Given the description of an element on the screen output the (x, y) to click on. 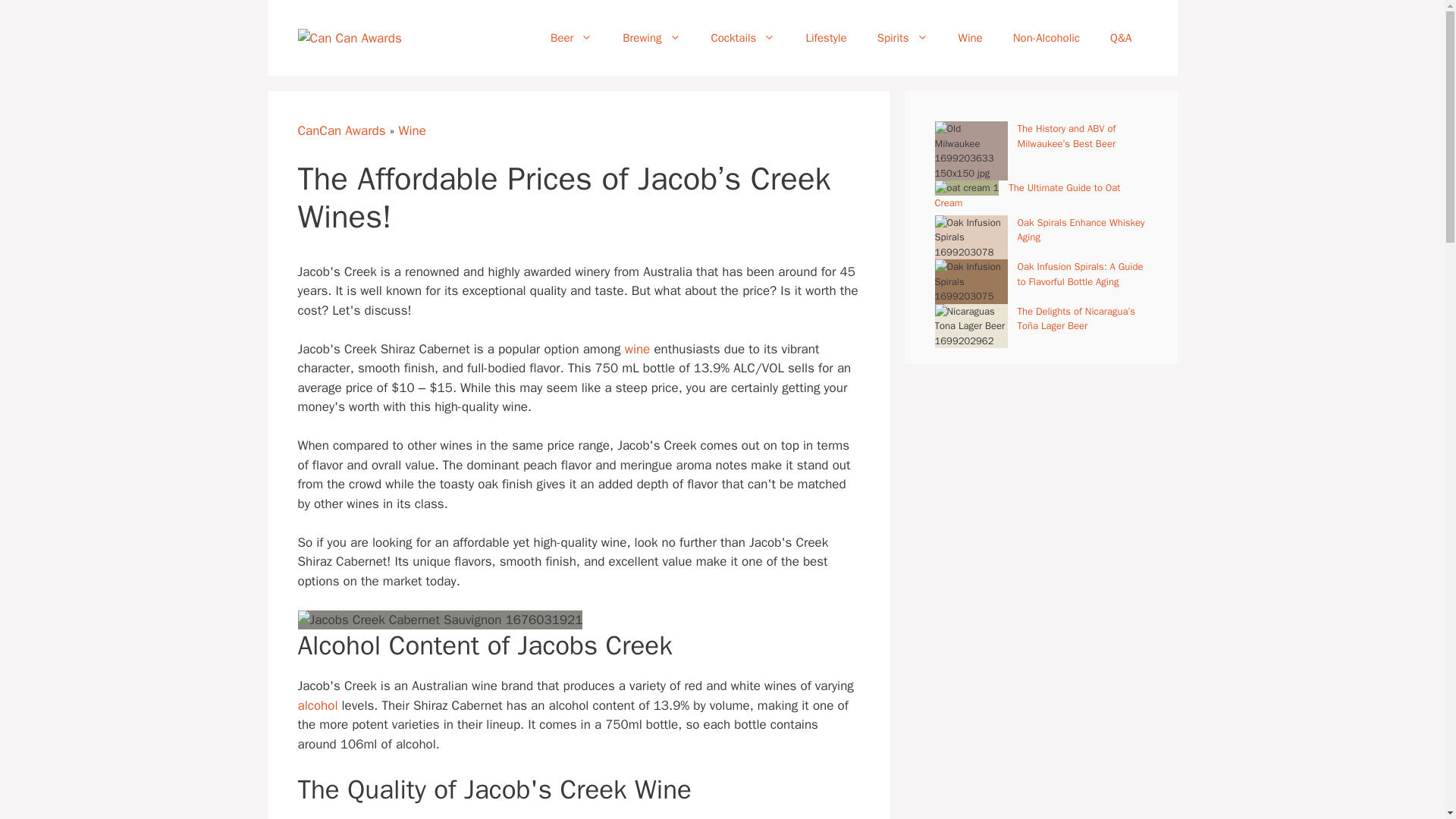
The Ultimate Guide to Oat Cream 3 (966, 187)
Beer (571, 37)
Wine (970, 37)
Non-Alcoholic (1045, 37)
Brewing (651, 37)
Oak Infusion Spirals: A Guide to Flavorful Bottle Aging 5 (970, 281)
Lifestyle (825, 37)
The History and ABV of Milwaukee's Best Beer 2 (970, 150)
Oak Spirals Enhance Whiskey Aging 4 (970, 237)
Cocktails (742, 37)
Spirits (902, 37)
The Affordable Prices of Jacob's Creek Wines! 1 (439, 619)
